Given the description of an element on the screen output the (x, y) to click on. 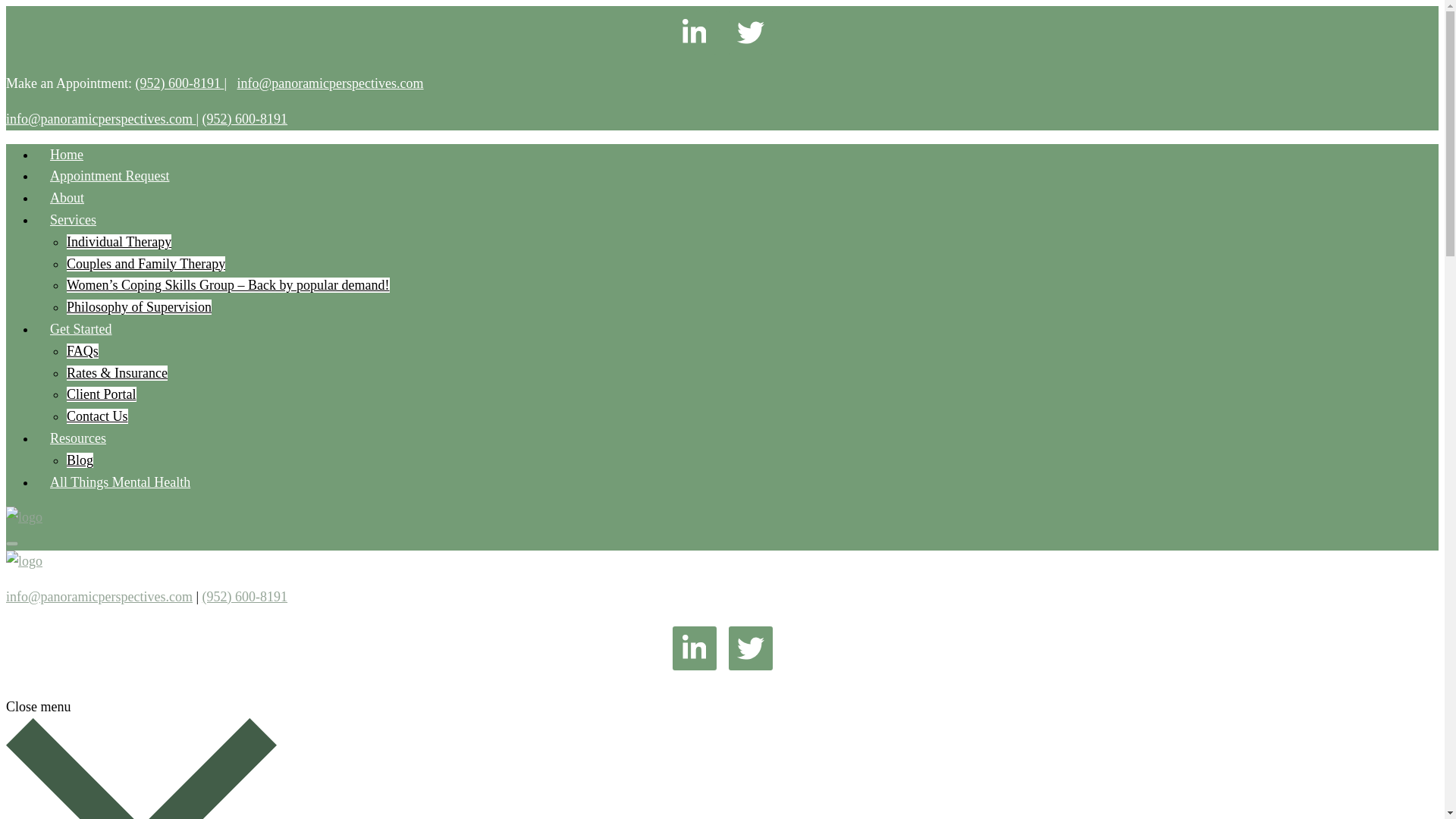
Contact Us (97, 416)
Services (73, 219)
FAQs (82, 350)
Home (66, 154)
Individual Therapy (118, 241)
Client Portal (101, 394)
Get Started (80, 328)
Philosophy of Supervision (138, 306)
Resources (77, 438)
All Things Mental Health (119, 481)
